Given the description of an element on the screen output the (x, y) to click on. 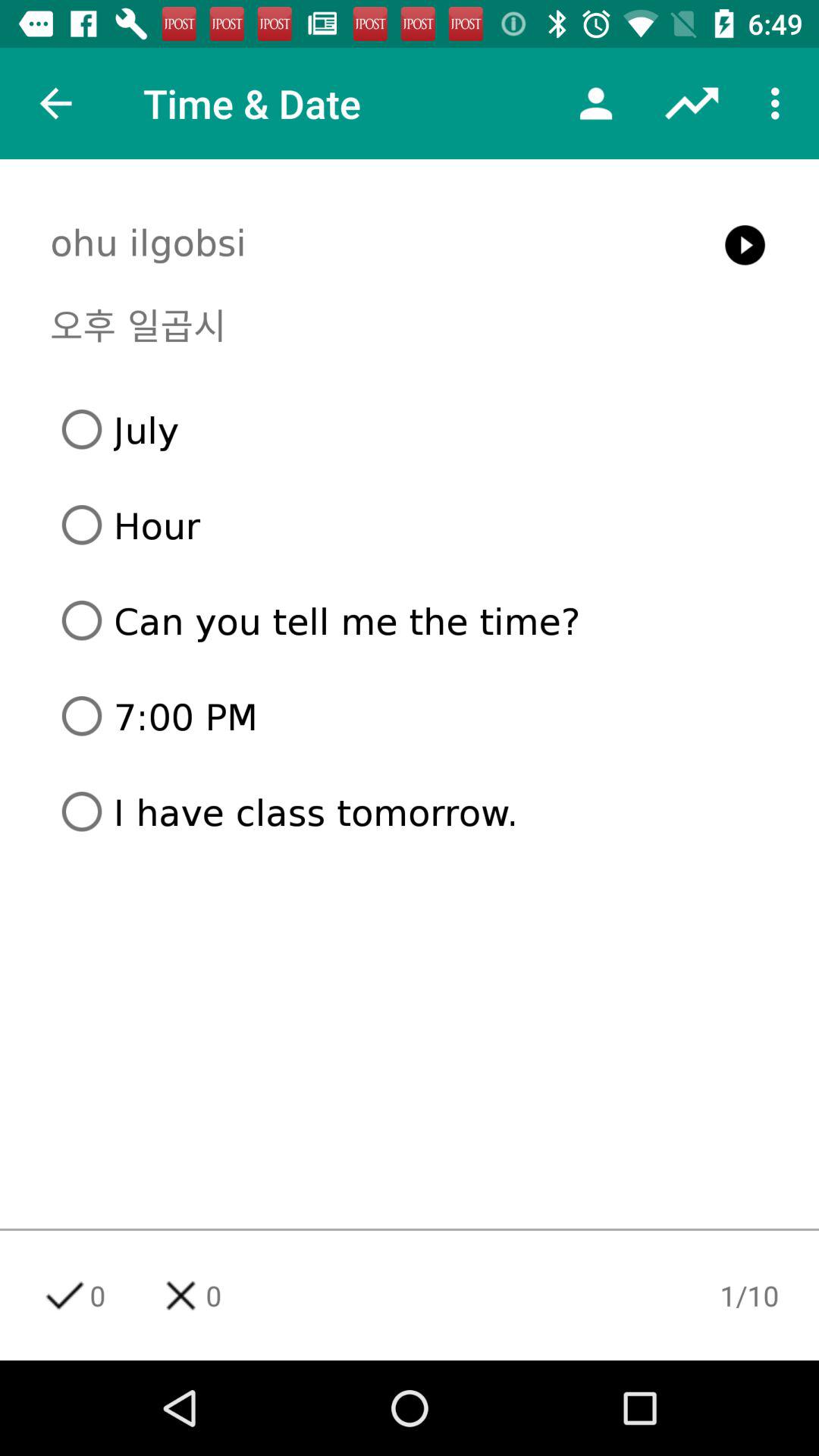
press the icon to the left of the time & date icon (55, 103)
